Given the description of an element on the screen output the (x, y) to click on. 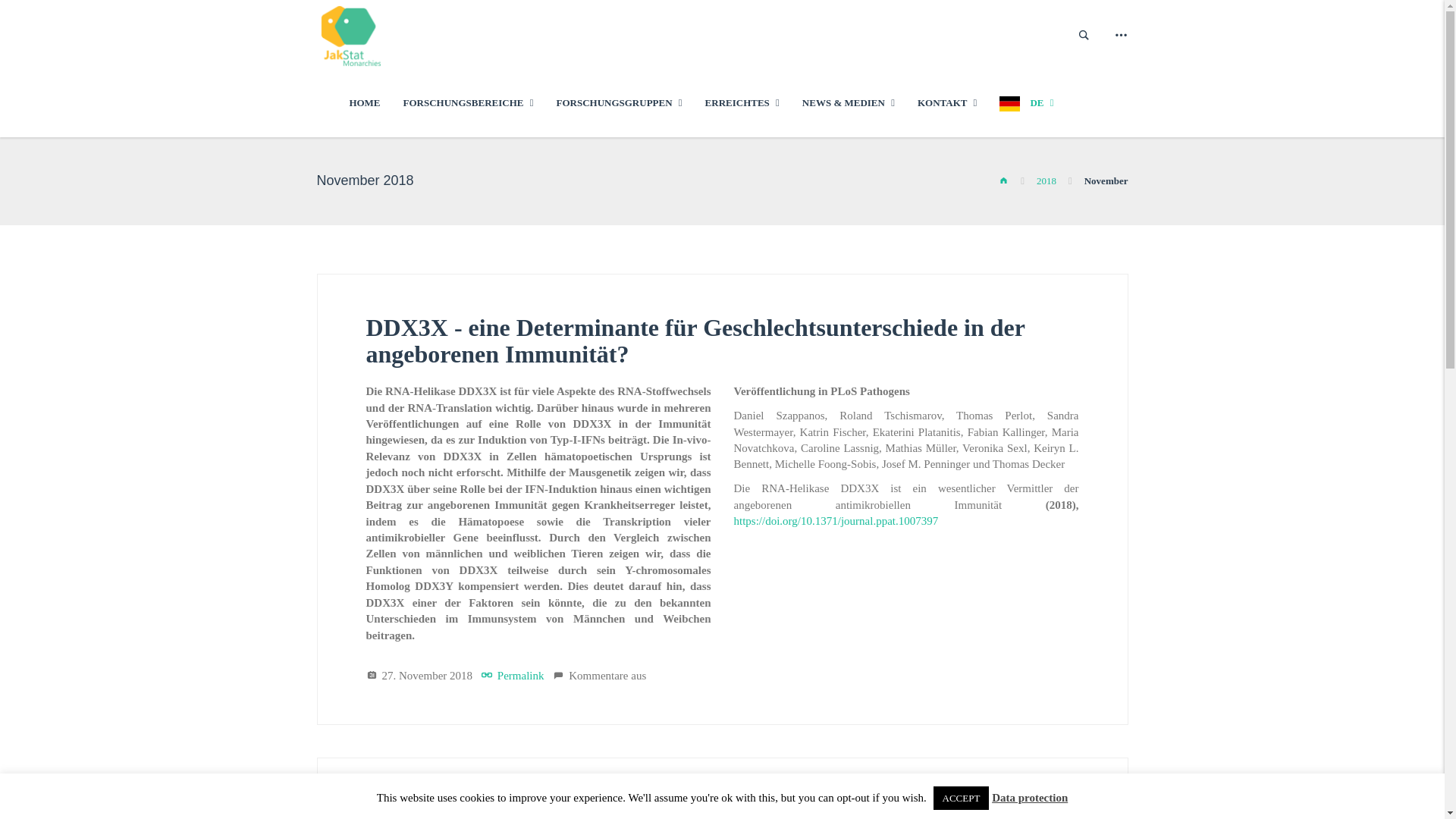
FORSCHUNGSBEREICHE (467, 101)
KONTAKT (946, 101)
FORSCHUNGSGRUPPEN (618, 101)
ERREICHTES (742, 101)
ERREICHTES (742, 101)
FORSCHUNGSBEREICHE (467, 101)
FORSCHUNGSGRUPPEN (618, 101)
